Given the description of an element on the screen output the (x, y) to click on. 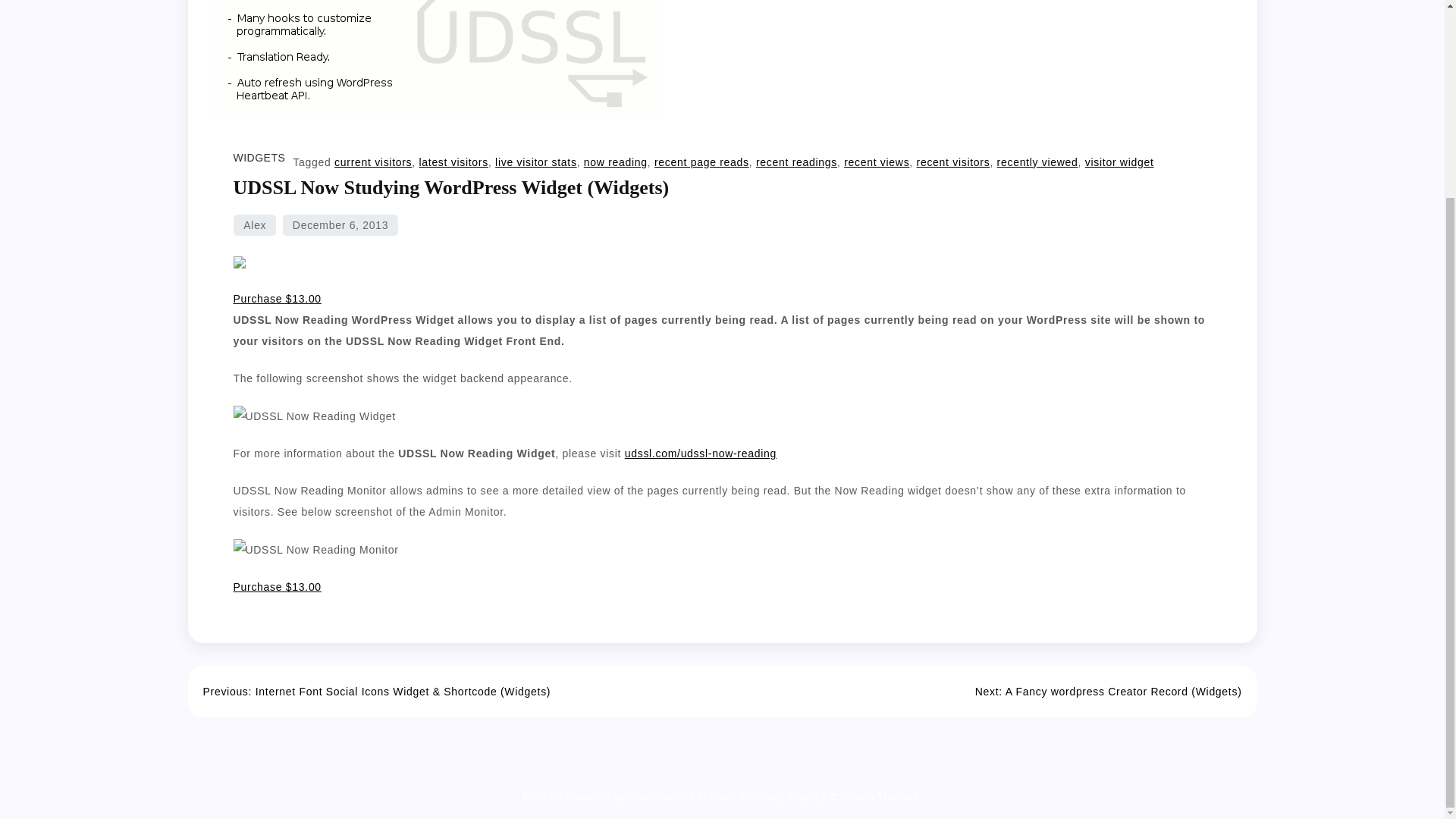
recent page reads (701, 162)
recent visitors (953, 162)
UDSSL Now Reading Monitor (315, 549)
recent readings (796, 162)
December 6, 2013 (339, 224)
live visitor stats (535, 162)
recent views (876, 162)
recently viewed (1037, 162)
now reading (615, 162)
visitor widget (1119, 162)
